Given the description of an element on the screen output the (x, y) to click on. 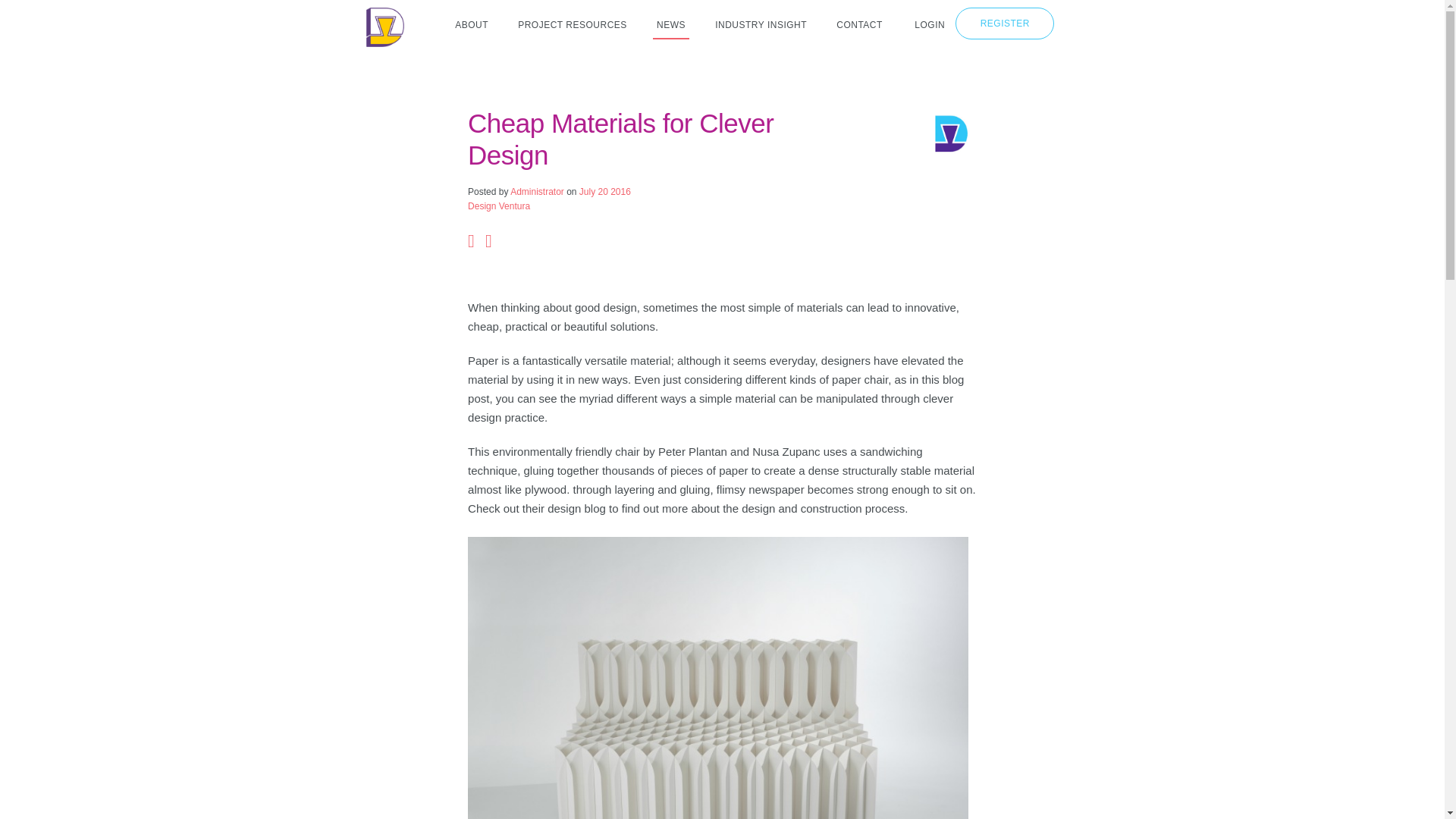
PROJECT RESOURCES (571, 25)
ABOUT (471, 25)
NEWS (670, 25)
CONTACT (859, 25)
REGISTER (1004, 23)
LOGIN (929, 24)
INDUSTRY INSIGHT (760, 25)
